Given the description of an element on the screen output the (x, y) to click on. 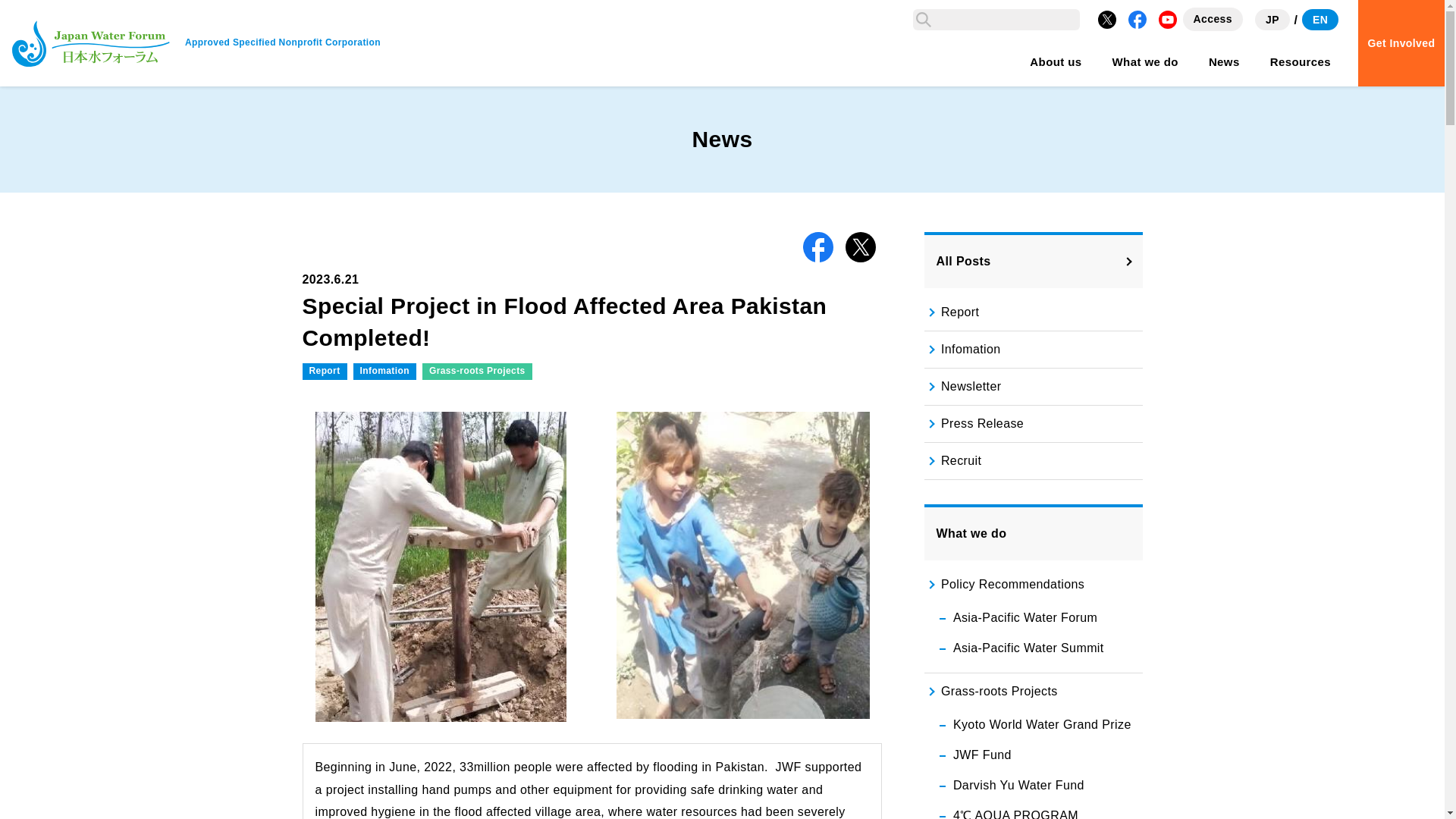
X (1106, 19)
Resources (1300, 62)
Japan Water Forum (90, 42)
Search (923, 19)
YouTube (1167, 19)
JP (1272, 19)
JP (1272, 19)
What we do (1145, 62)
Facebook (1137, 19)
News (1224, 62)
